Given the description of an element on the screen output the (x, y) to click on. 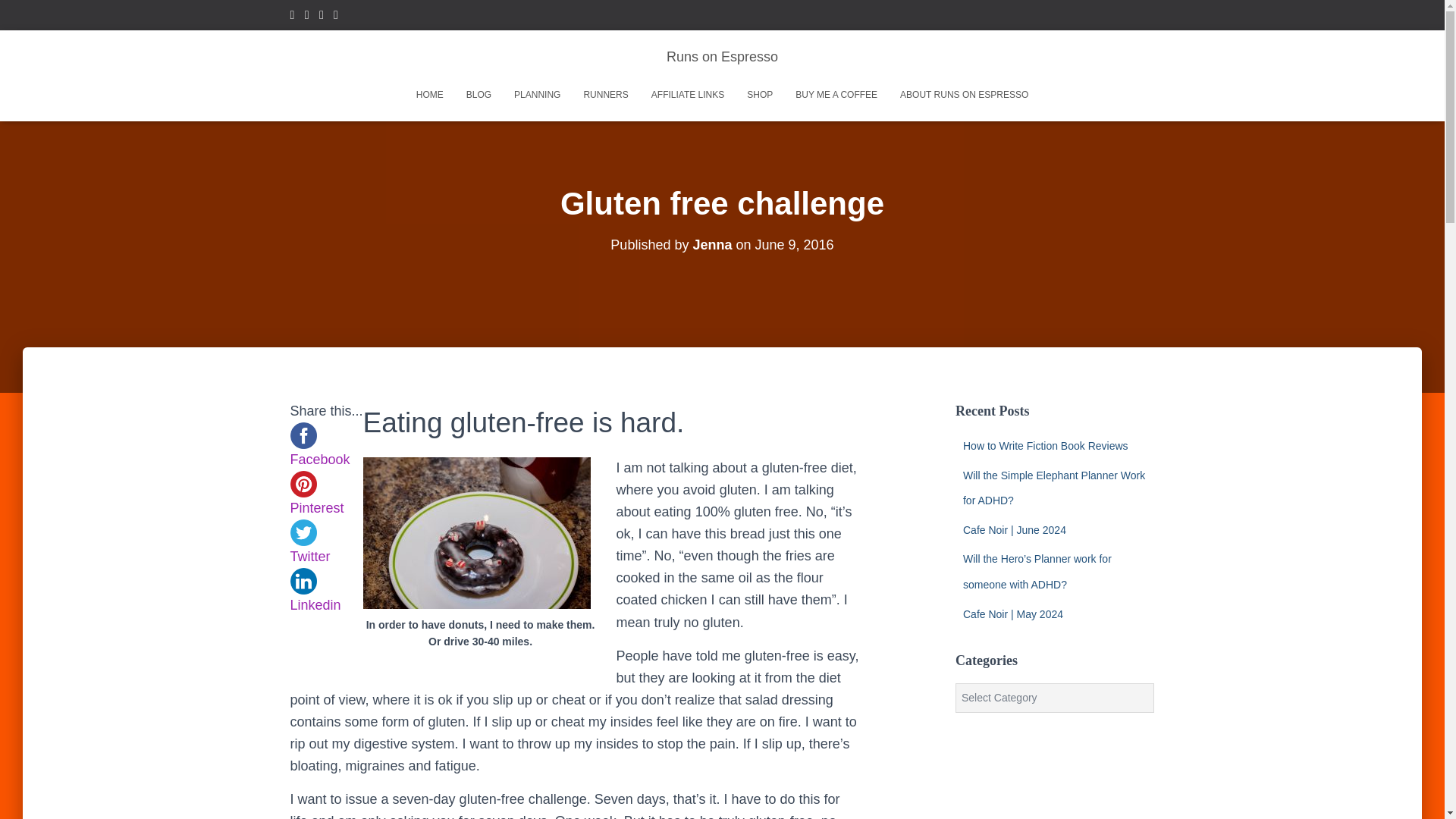
facebook (302, 435)
Affiliate Links (687, 94)
Facebook (320, 17)
AFFILIATE LINKS (687, 94)
SHOP (759, 94)
RUNNERS (605, 94)
Planning (537, 94)
Home (429, 94)
Youtube (291, 17)
Instagram (306, 17)
Twitter (335, 17)
Blog (478, 94)
ABOUT RUNS ON ESPRESSO (963, 94)
Runners (605, 94)
Linkedin (325, 595)
